Given the description of an element on the screen output the (x, y) to click on. 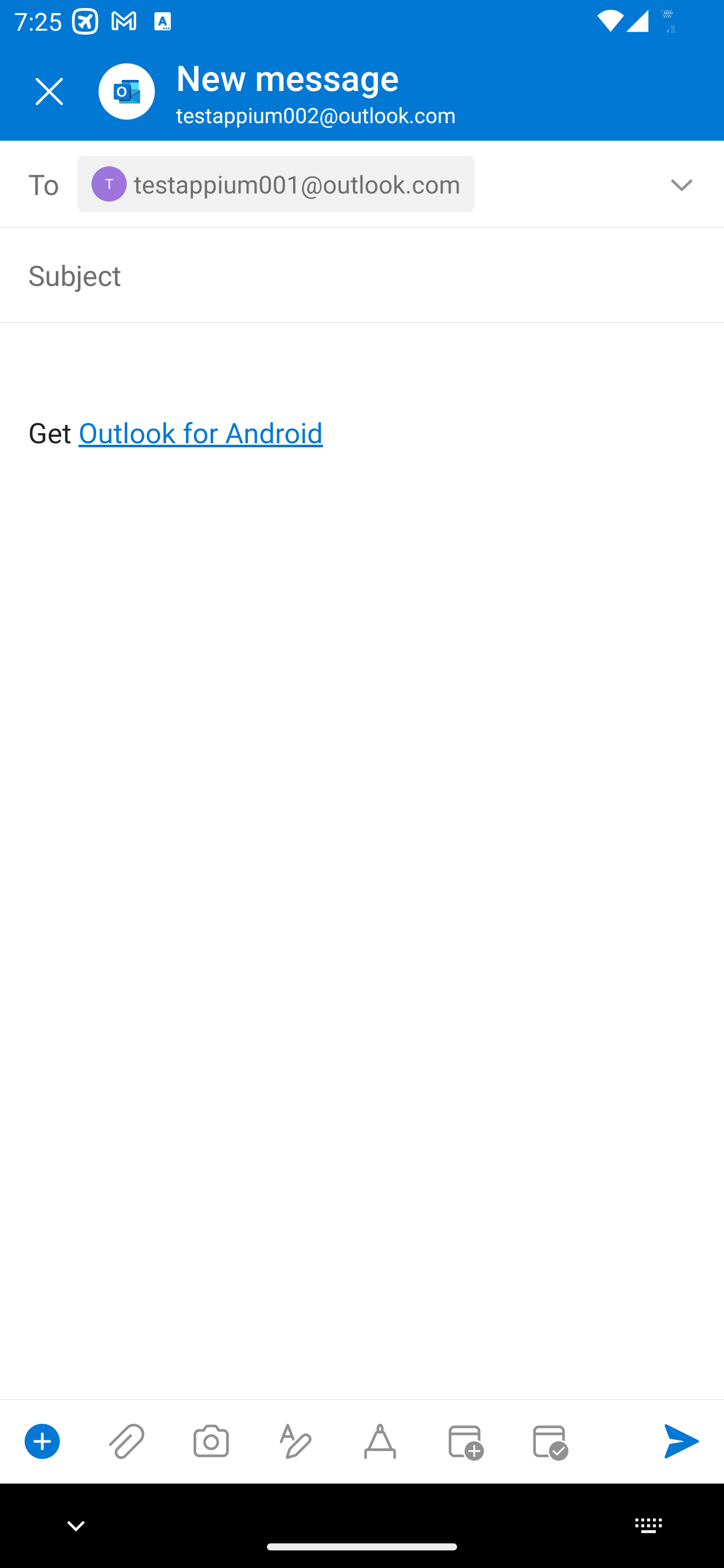
Close (49, 91)
To, 1 recipient <testappium001@outlook.com> (362, 184)
Subject (333, 274)


Get Outlook for Android (363, 400)
Show compose options (42, 1440)
Attach files (126, 1440)
Take a photo (210, 1440)
Show formatting options (295, 1440)
Start Ink compose (380, 1440)
Convert to event (464, 1440)
Send availability (548, 1440)
Send (681, 1440)
